Given the description of an element on the screen output the (x, y) to click on. 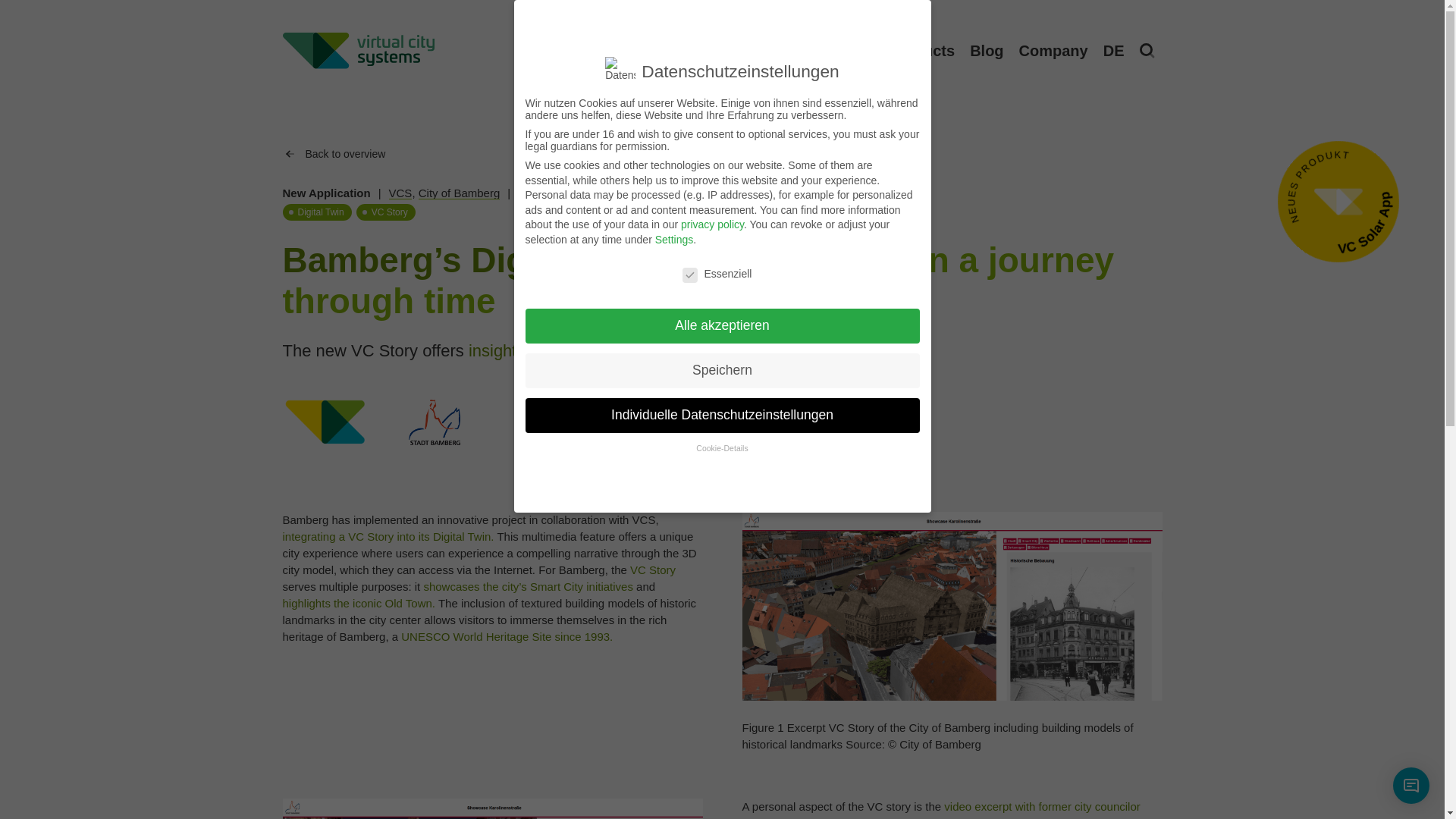
Solutions (838, 50)
Blog (1338, 201)
Products (986, 50)
VCS (921, 50)
Search (400, 192)
Back to overview (1100, 57)
Company (721, 165)
City of Bamberg (1053, 50)
DE (459, 192)
